Given the description of an element on the screen output the (x, y) to click on. 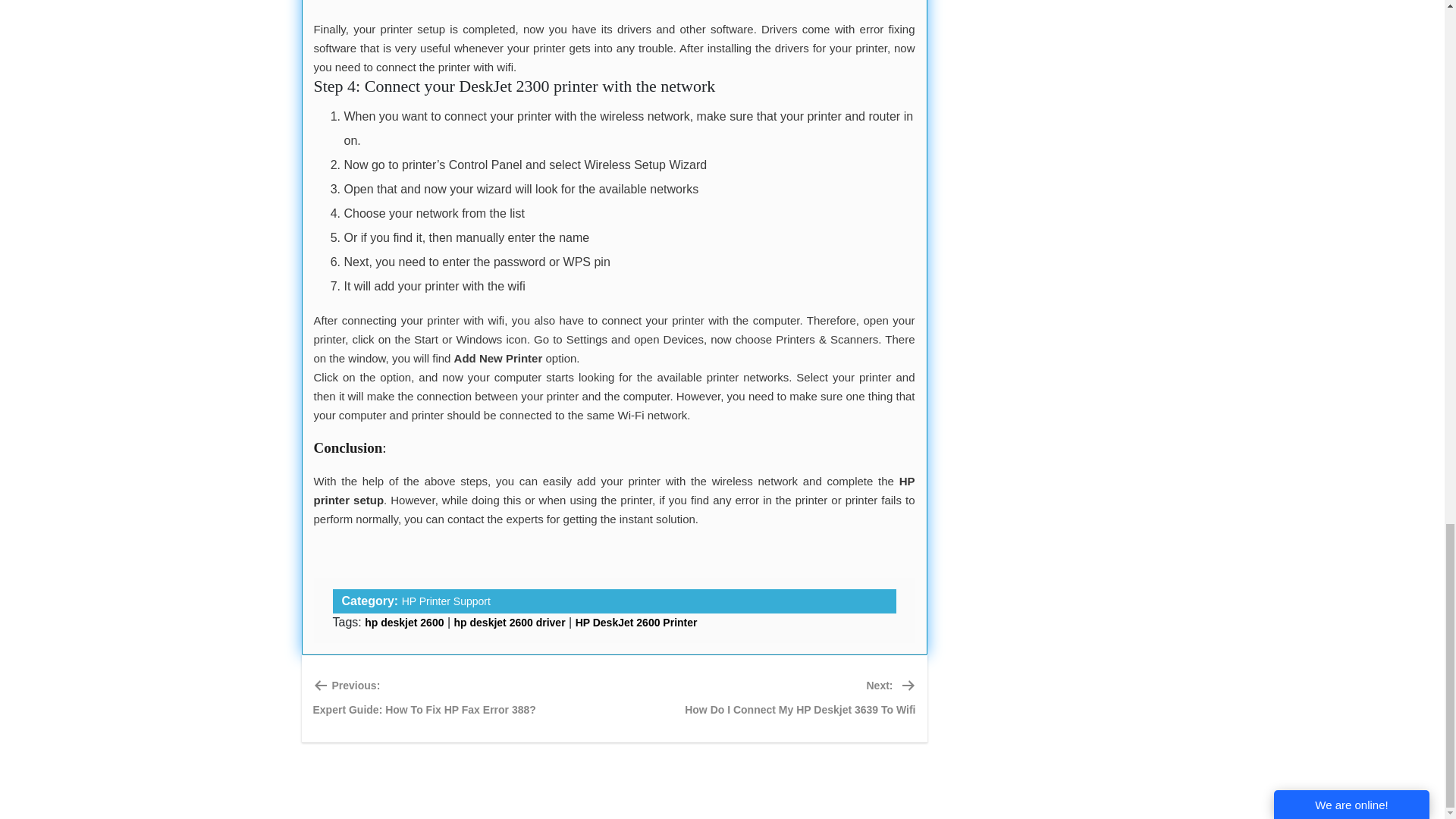
HP Printer Support (799, 698)
hp deskjet 2600 (445, 601)
HP printer setup (404, 622)
HP DeskJet 2600 Printer (614, 490)
hp deskjet 2600 driver (636, 622)
